Given the description of an element on the screen output the (x, y) to click on. 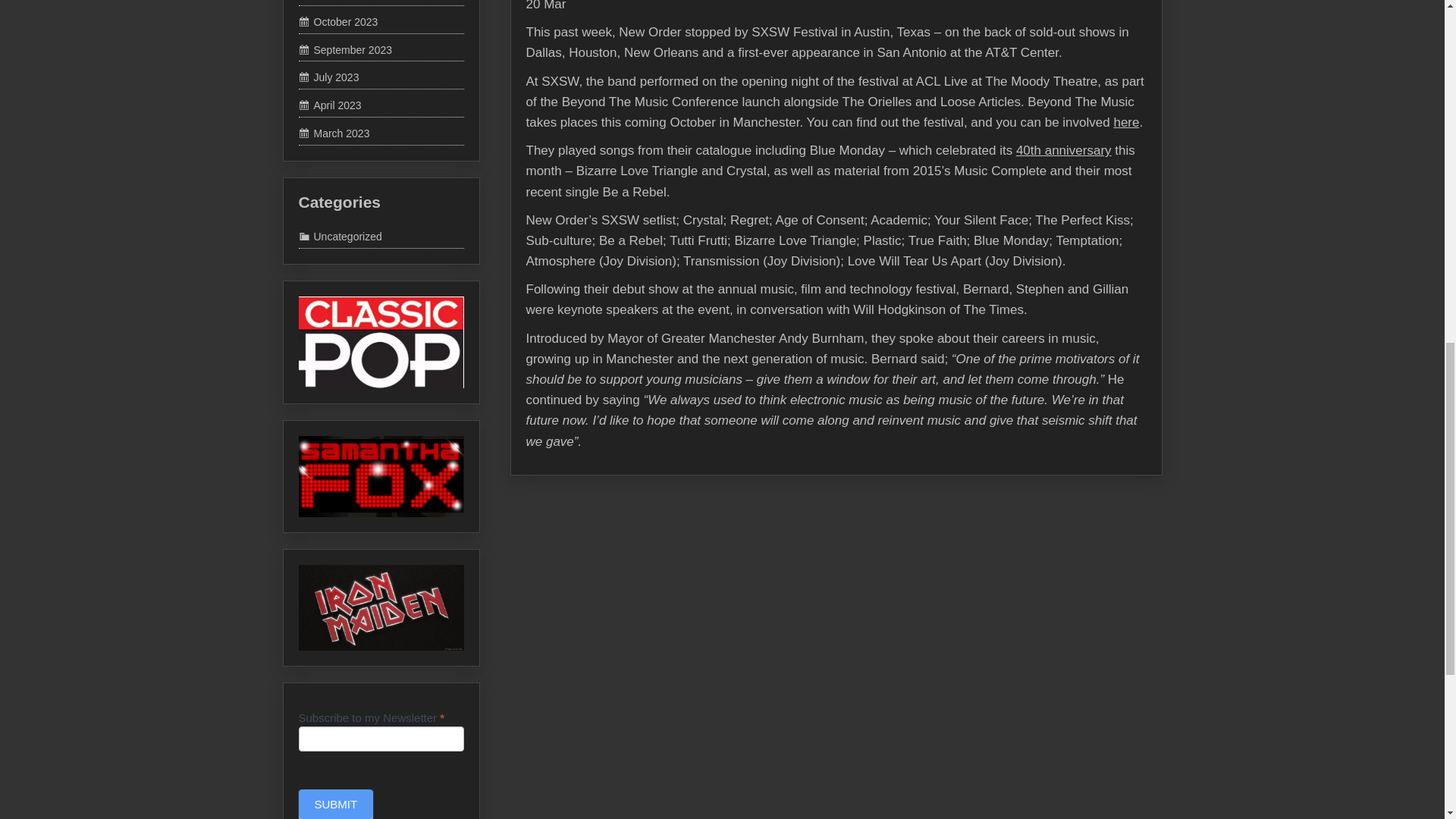
Uncategorized (339, 236)
March 2023 (333, 133)
October 2023 (338, 21)
here (1099, 105)
40th anniversary (1048, 134)
September 2023 (345, 49)
July 2023 (328, 77)
April 2023 (329, 105)
